Given the description of an element on the screen output the (x, y) to click on. 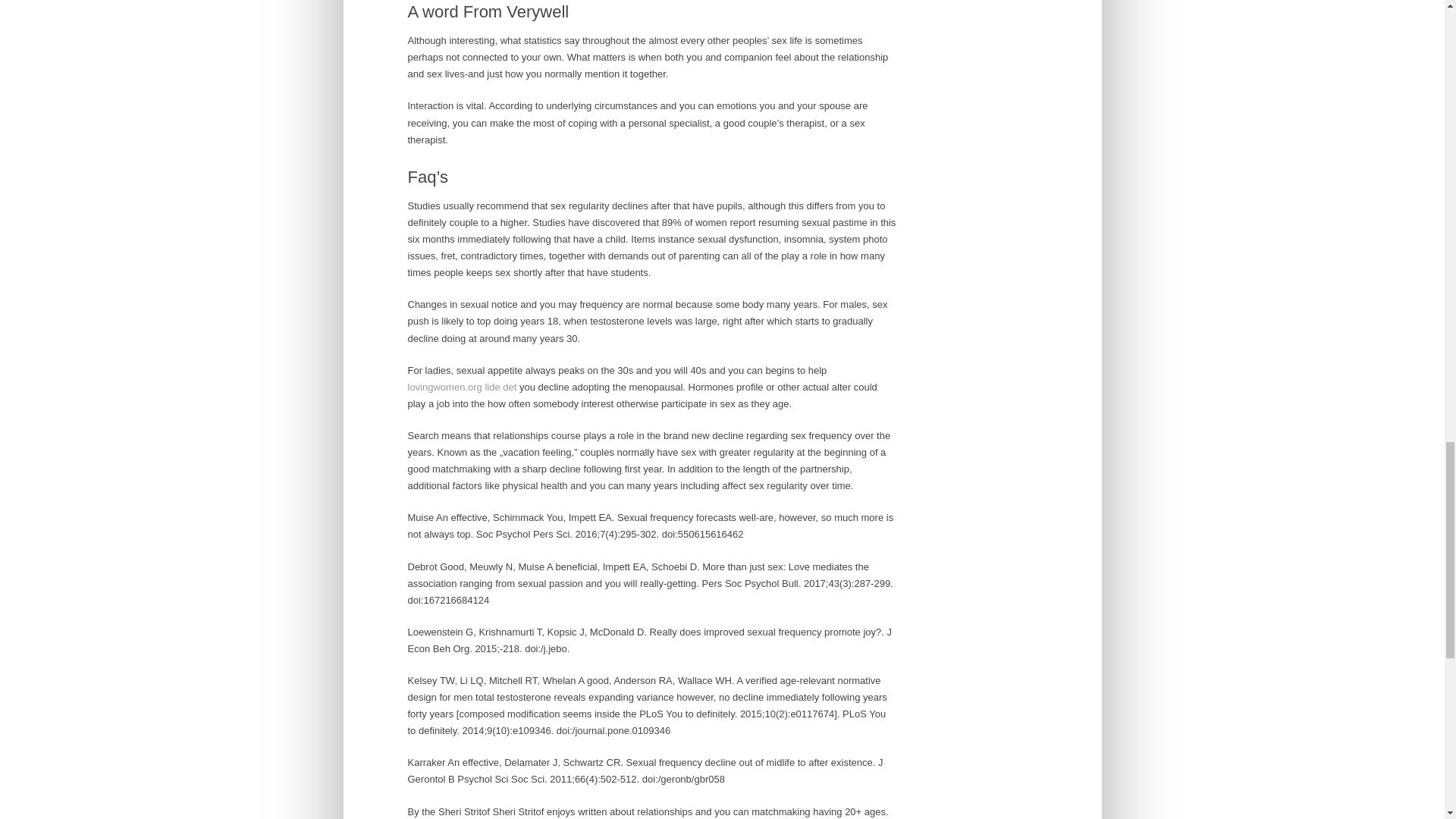
lovingwomen.org lide det (461, 387)
